Given the description of an element on the screen output the (x, y) to click on. 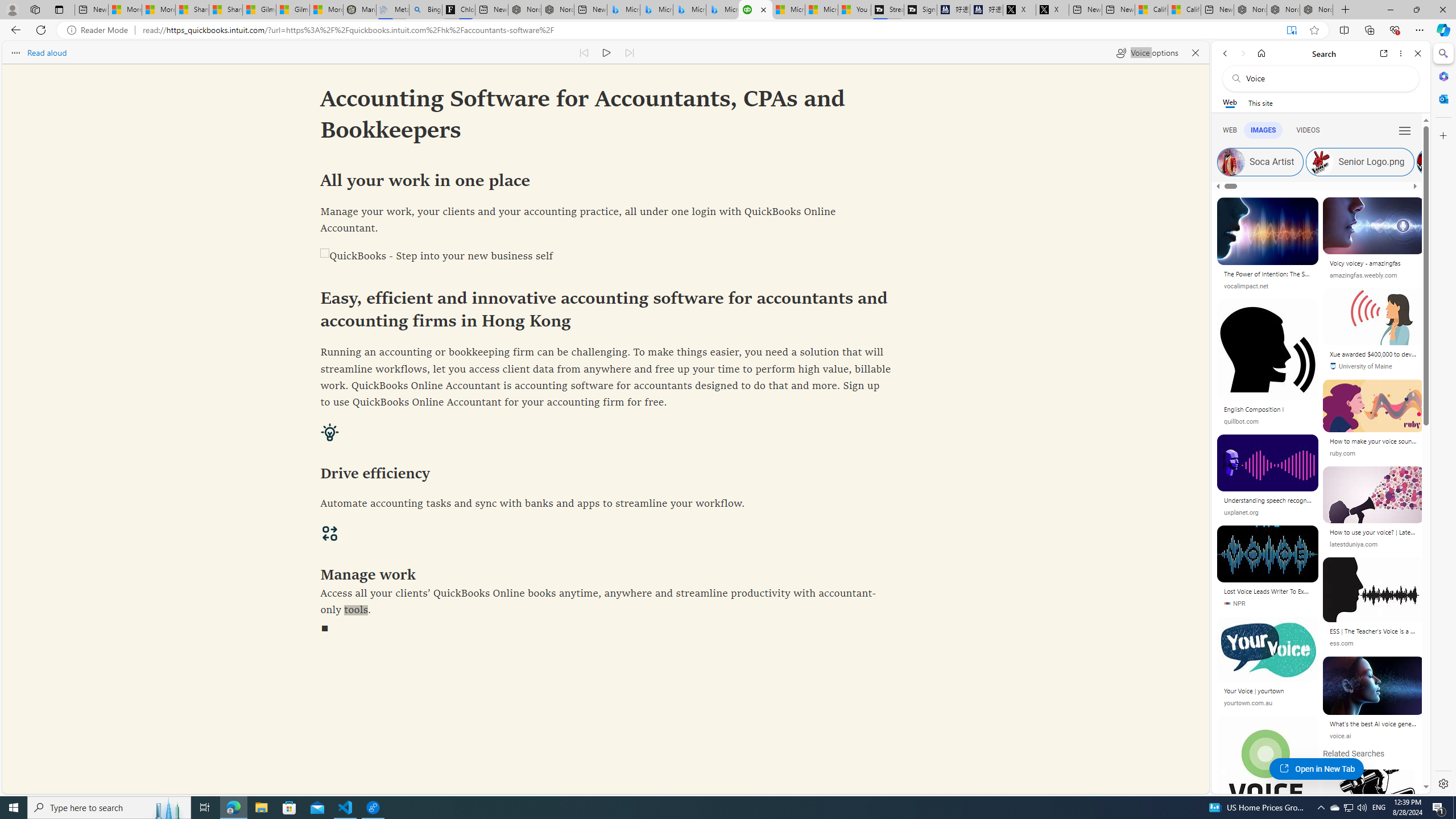
ess.com (1372, 643)
Shanghai, China weather forecast | Microsoft Weather (225, 9)
uxplanet.org (1240, 512)
Your Voice | yourtown (1267, 690)
VIDEOS (1307, 130)
Accounting Software for Accountants, CPAs and Bookkeepers (755, 9)
latestduniya.com (1372, 543)
Nordace - Siena Pro 15 Essential Set (1316, 9)
Class: b_serphb (1404, 130)
Settings (1442, 783)
